Given the description of an element on the screen output the (x, y) to click on. 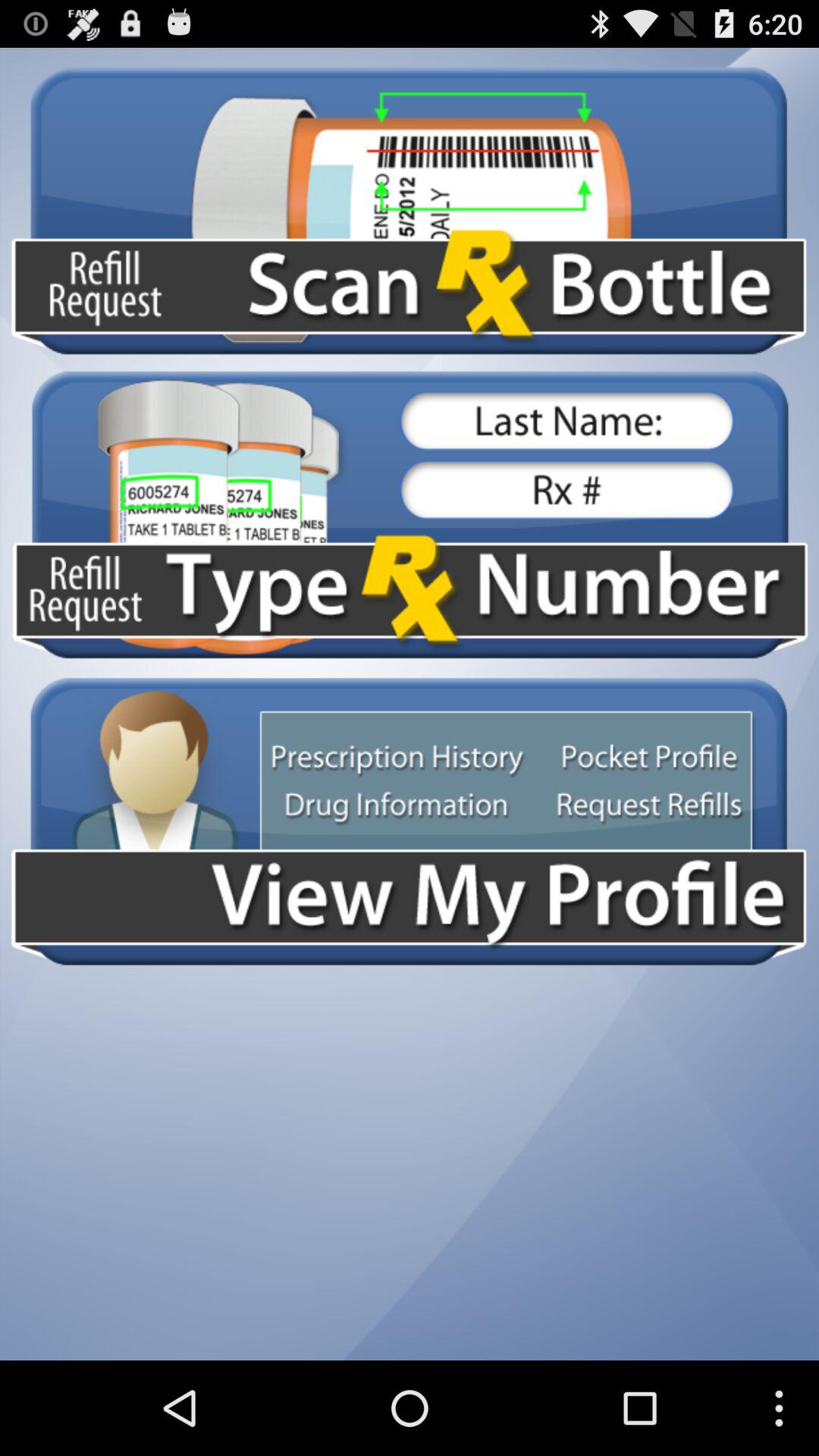
open item at the top (409, 210)
